Given the description of an element on the screen output the (x, y) to click on. 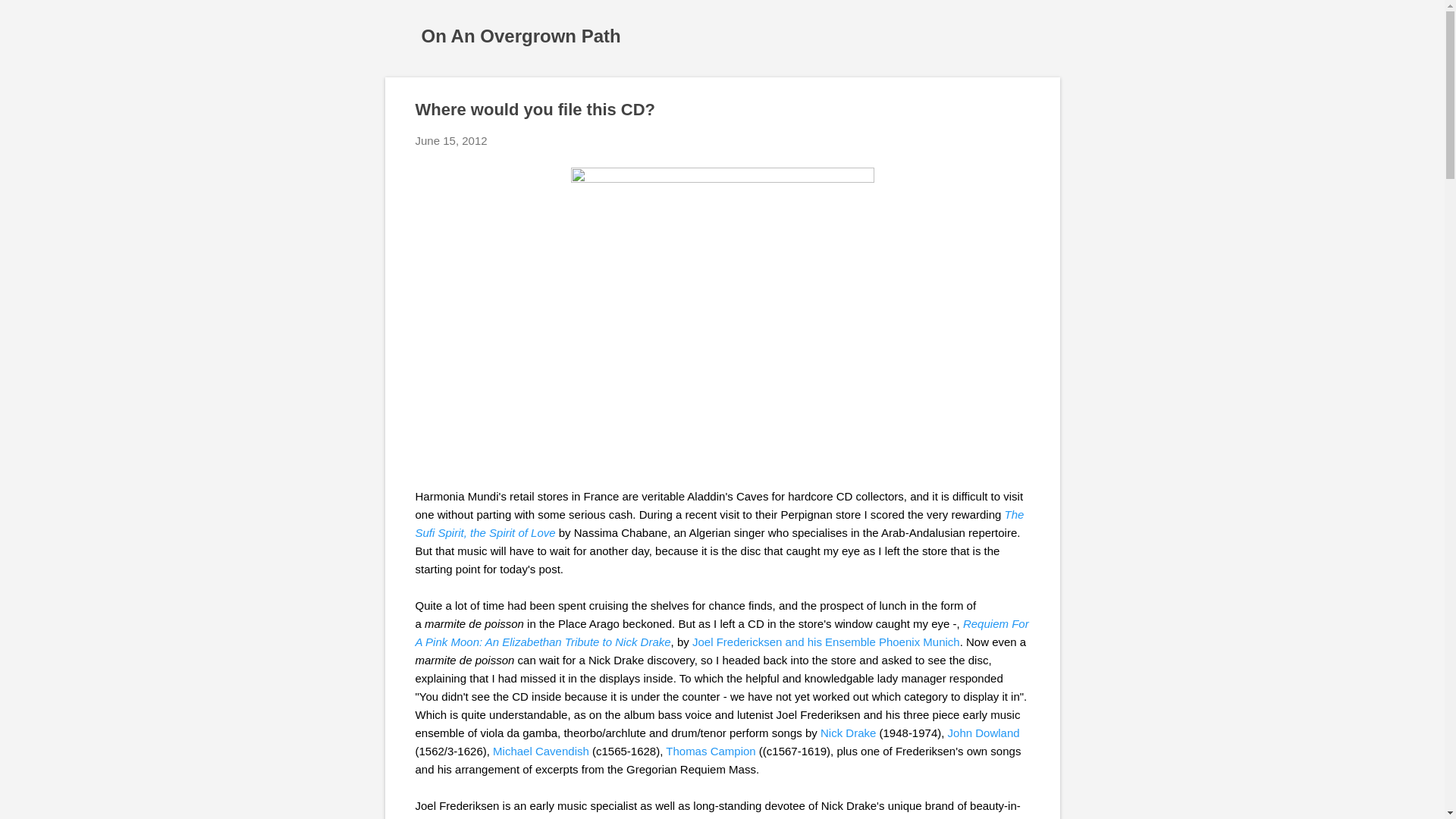
John Dowland (983, 732)
The Sufi Spirit, the Spirit of Love (719, 522)
Thomas Campion (710, 750)
permanent link (450, 140)
On An Overgrown Path (521, 35)
June 15, 2012 (450, 140)
Search (29, 18)
Nick Drake (848, 732)
Michael Cavendish (541, 750)
Joel Fredericksen and his Ensemble Phoenix Munich (826, 641)
